Given the description of an element on the screen output the (x, y) to click on. 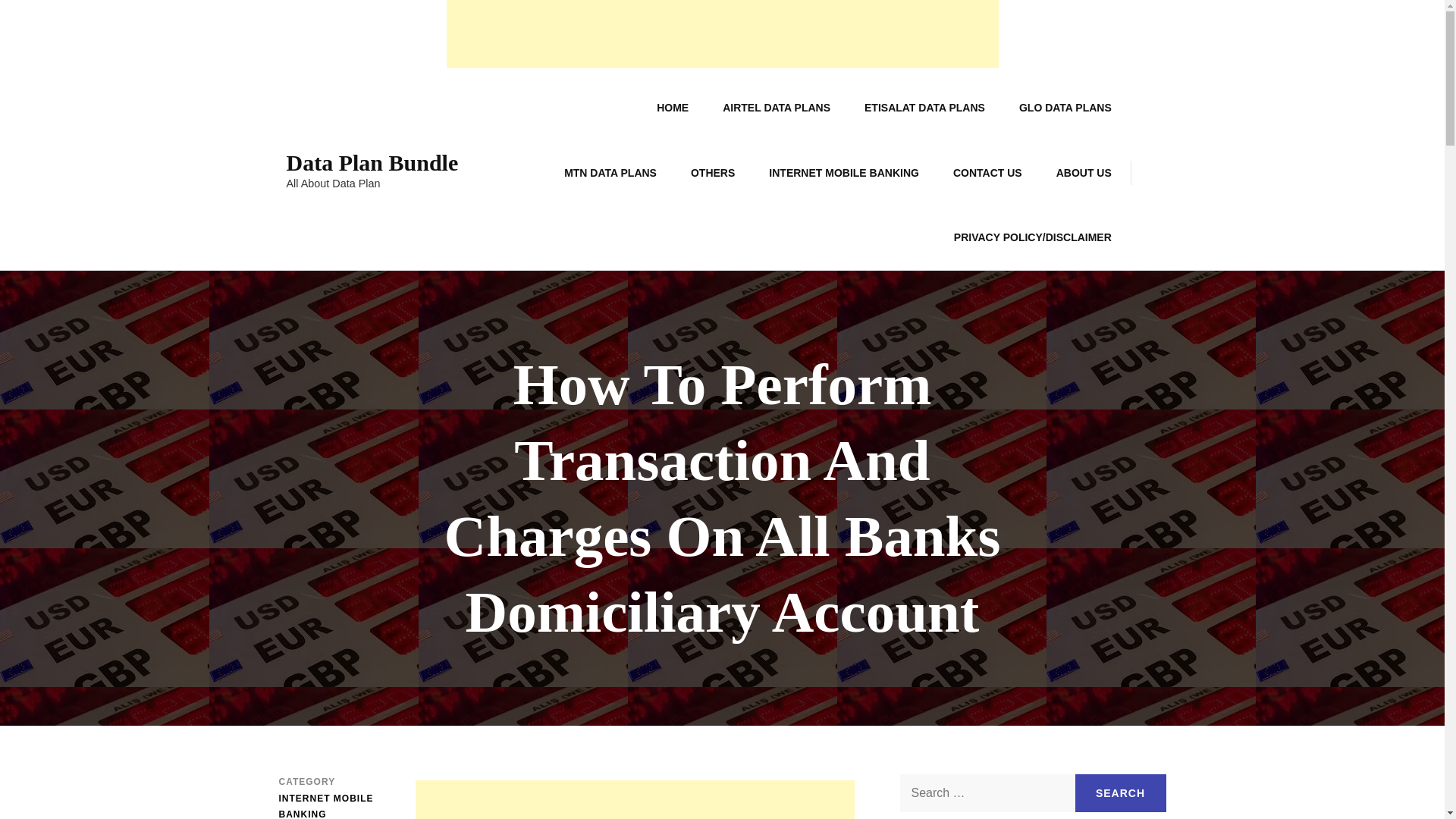
MTN DATA PLANS (609, 172)
Search (1120, 792)
Search (1120, 792)
CONTACT US (986, 172)
INTERNET MOBILE BANKING (336, 805)
INTERNET MOBILE BANKING (844, 172)
Data Plan Bundle (372, 162)
ETISALAT DATA PLANS (924, 108)
Advertisement (634, 799)
AIRTEL DATA PLANS (776, 108)
ABOUT US (1083, 172)
GLO DATA PLANS (1065, 108)
HOME (672, 108)
OTHERS (712, 172)
Advertisement (721, 33)
